Given the description of an element on the screen output the (x, y) to click on. 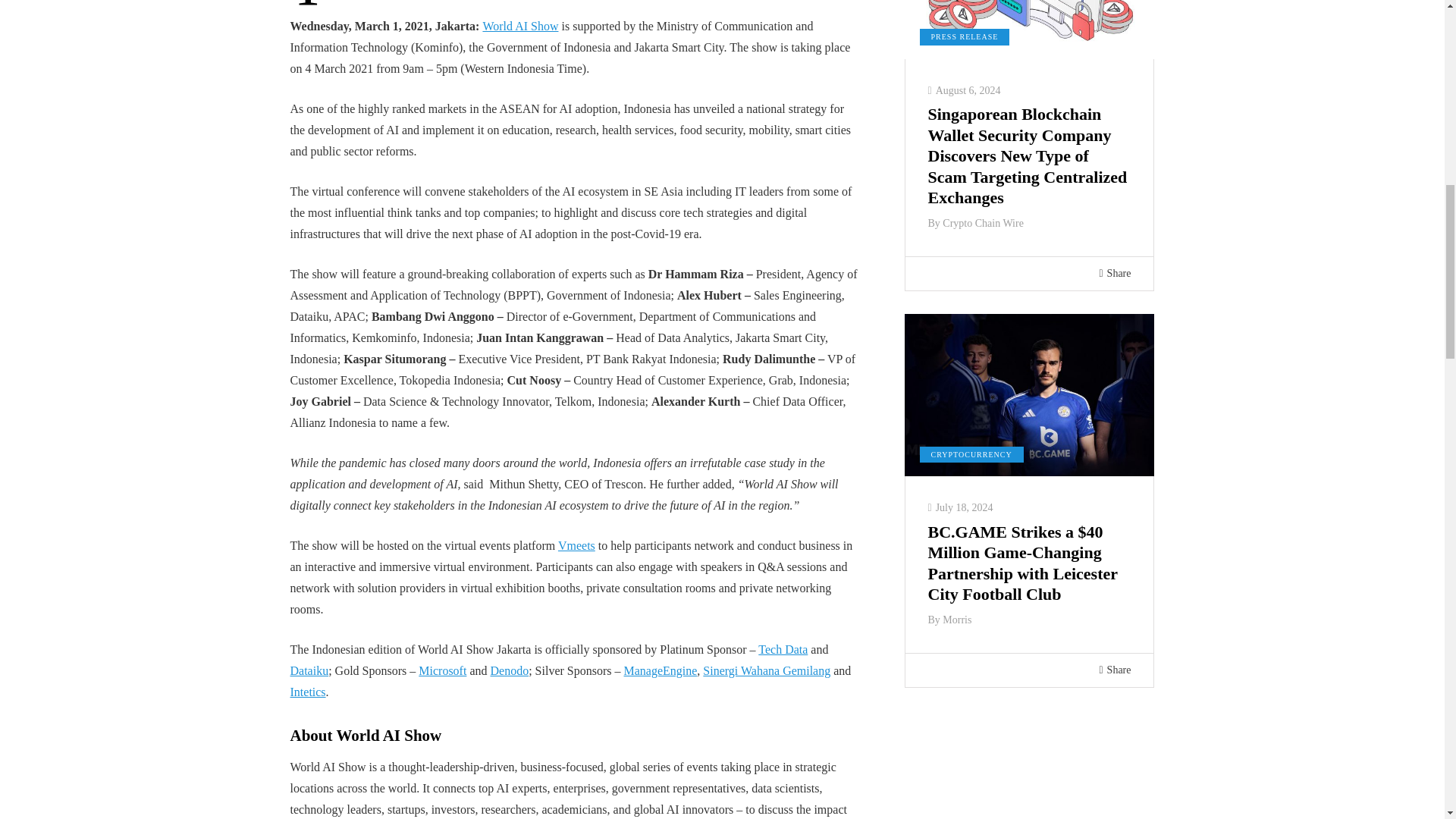
Vmeets (576, 545)
Microsoft (442, 670)
Denodo (508, 670)
Dataiku (309, 670)
World AI Show (519, 25)
Sinergi Wahana Gemilang (766, 670)
ManageEngine (660, 670)
Tech Data (783, 649)
